Given the description of an element on the screen output the (x, y) to click on. 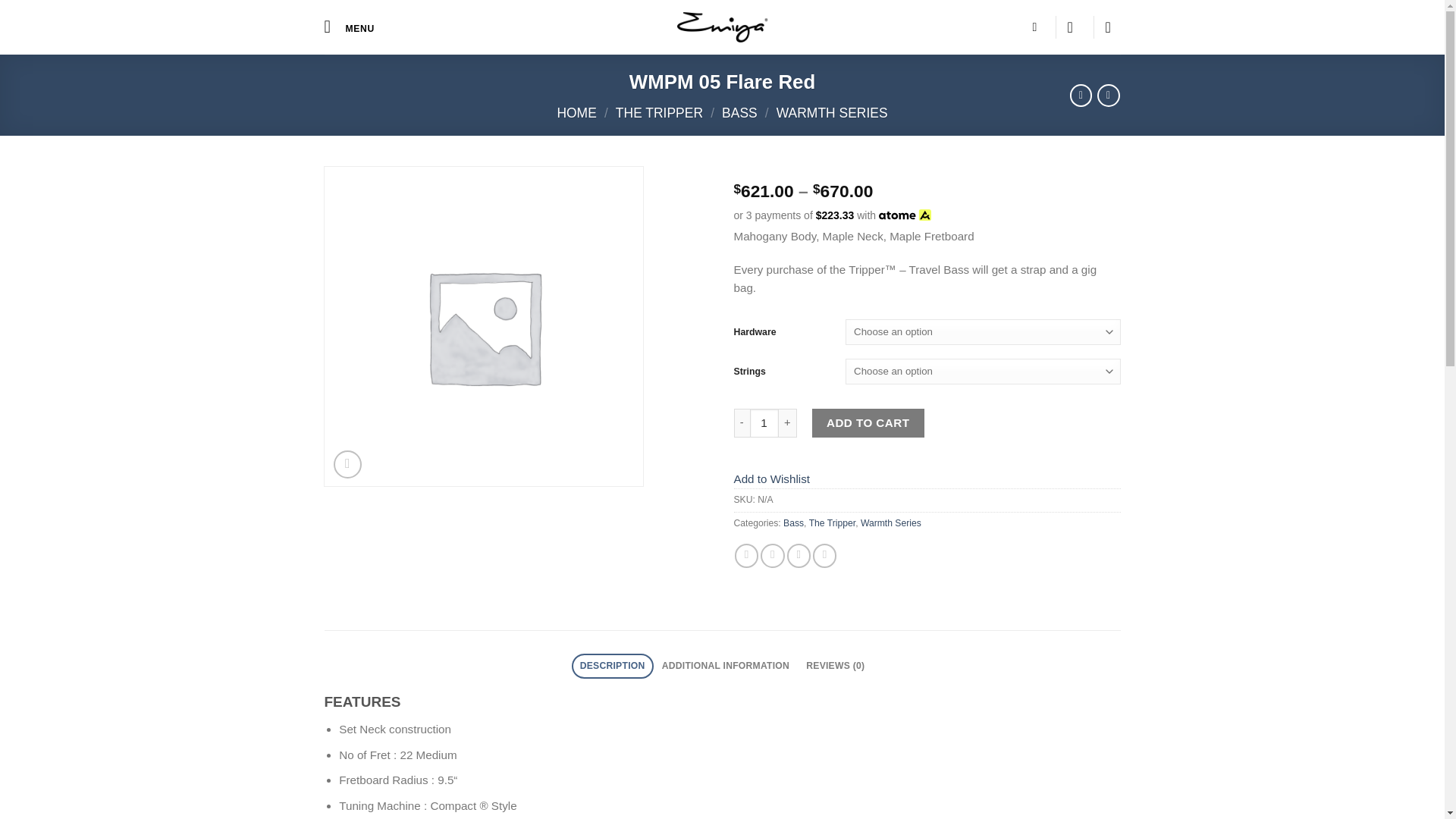
Qty (763, 422)
The Tripper (832, 522)
THE TRIPPER (659, 111)
1 (763, 422)
Emiya Guitars (722, 26)
ADD TO CART (868, 422)
Warmth Series (890, 522)
Bass (793, 522)
HOME (575, 111)
